Given the description of an element on the screen output the (x, y) to click on. 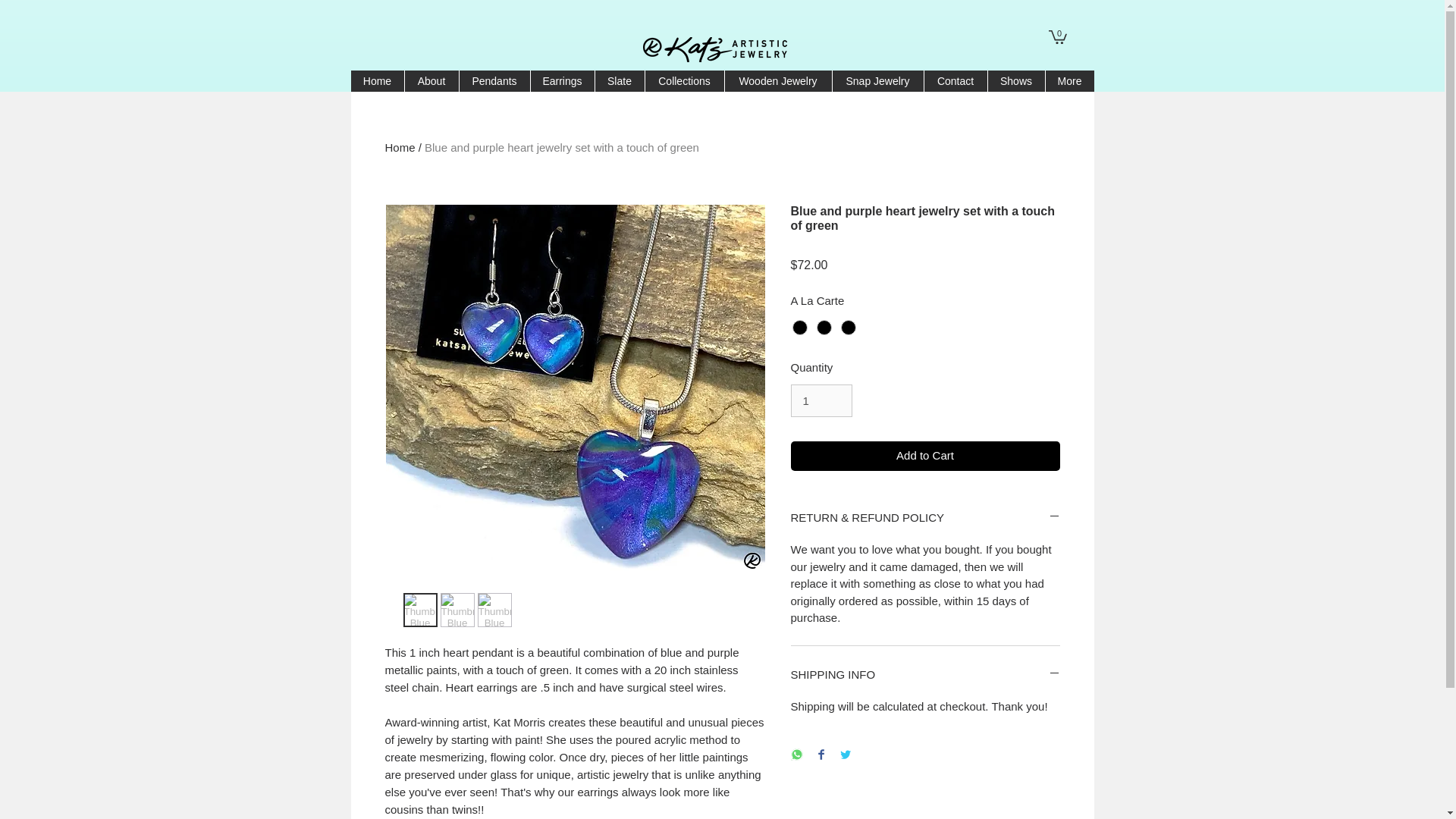
About (430, 80)
Shows (1016, 80)
Wooden Jewelry (777, 80)
Earrings (561, 80)
Collections (684, 80)
Slate (619, 80)
Contact (955, 80)
Snap Jewelry (877, 80)
0 (1056, 36)
0 (1056, 36)
Home (376, 80)
Pendants (493, 80)
1 (820, 400)
